Given the description of an element on the screen output the (x, y) to click on. 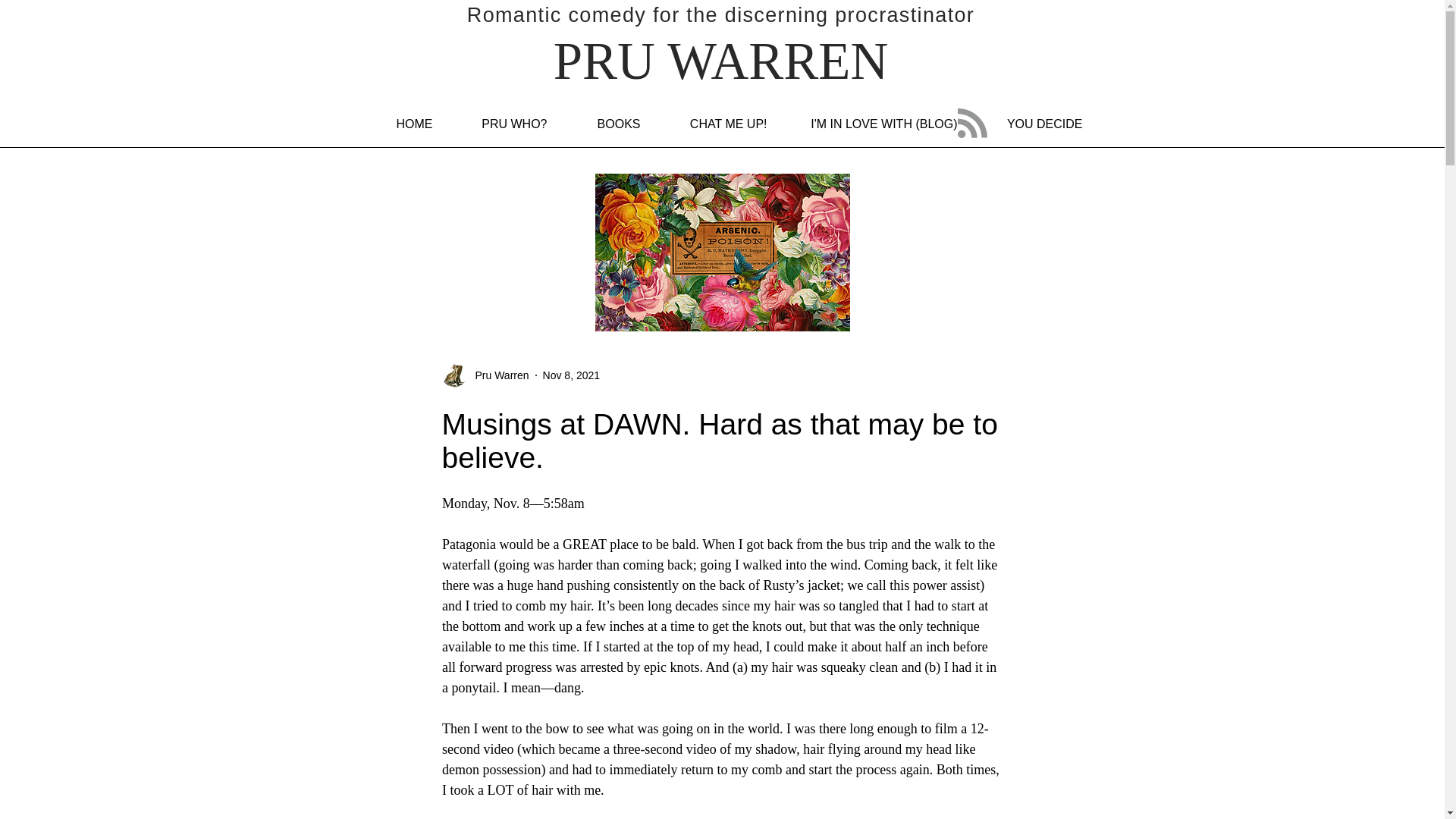
BOOKS (600, 123)
CHAT ME UP! (712, 123)
All Posts (390, 271)
HOME (395, 123)
YOU DECIDE (1028, 123)
Nov 8, 2021 (571, 375)
Pru Warren (496, 375)
PRU WHO? (498, 123)
